Given the description of an element on the screen output the (x, y) to click on. 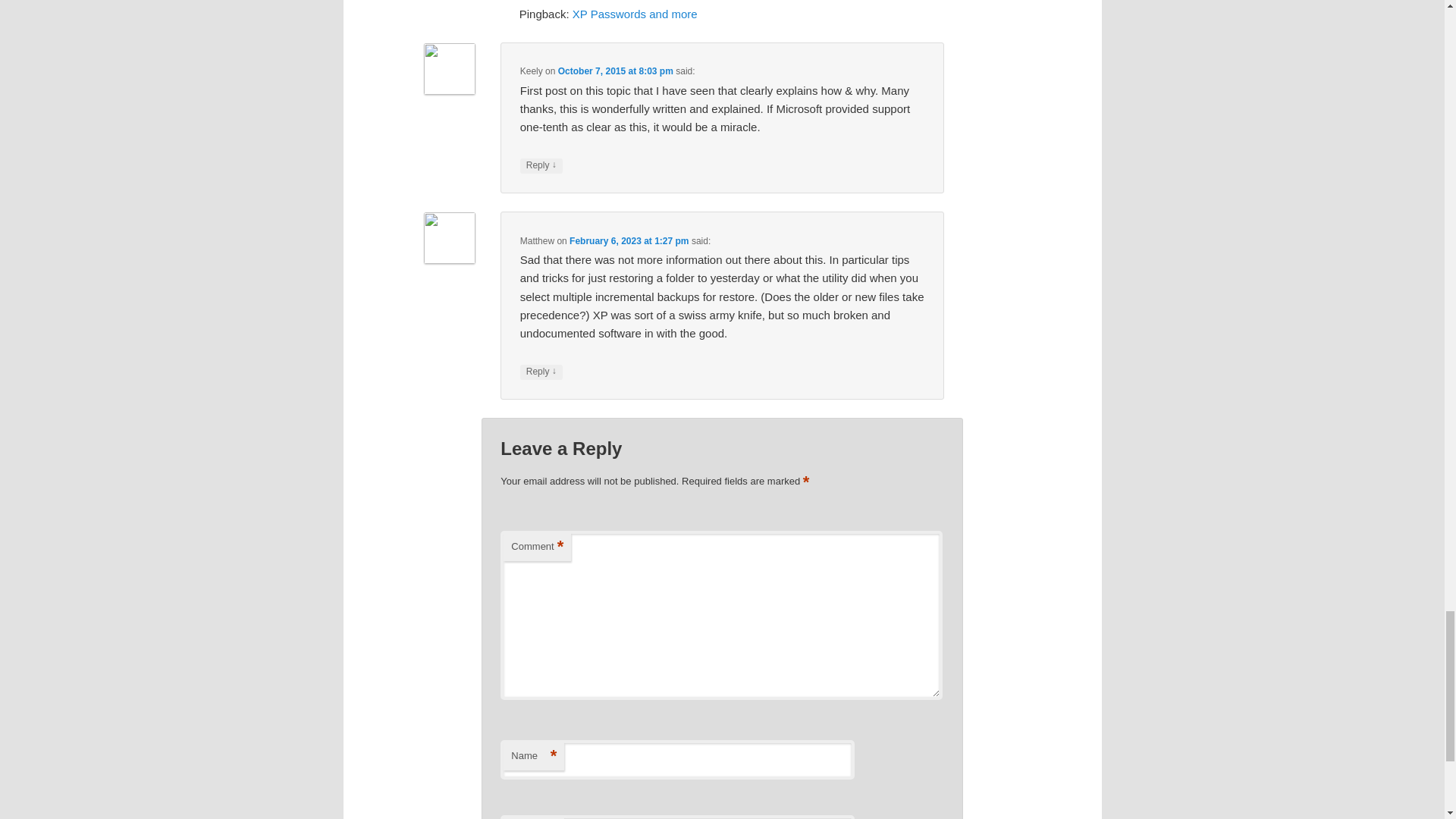
February 6, 2023 at 1:27 pm (628, 240)
October 7, 2015 at 8:03 pm (614, 71)
XP Passwords and more (634, 13)
